Given the description of an element on the screen output the (x, y) to click on. 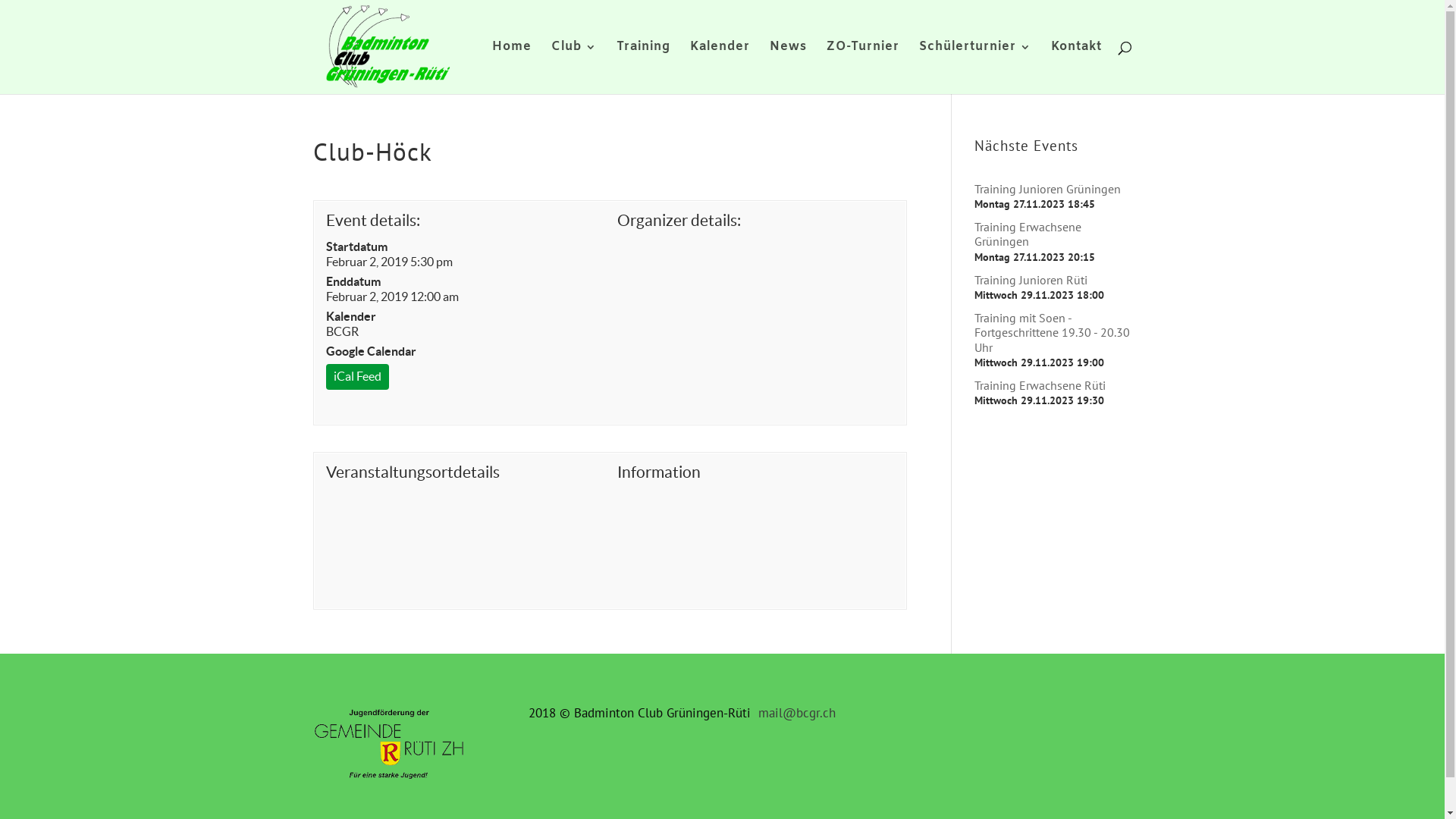
Kalender Element type: text (719, 67)
mail@bcgr.ch Element type: text (796, 712)
Training mit Soen - Fortgeschrittene 19.30 - 20.30 Uhr Element type: text (1051, 332)
Home Element type: text (510, 67)
Kontakt Element type: text (1076, 67)
Training Element type: text (642, 67)
ZO-Turnier Element type: text (862, 67)
News Element type: text (787, 67)
Club Element type: text (573, 67)
